Given the description of an element on the screen output the (x, y) to click on. 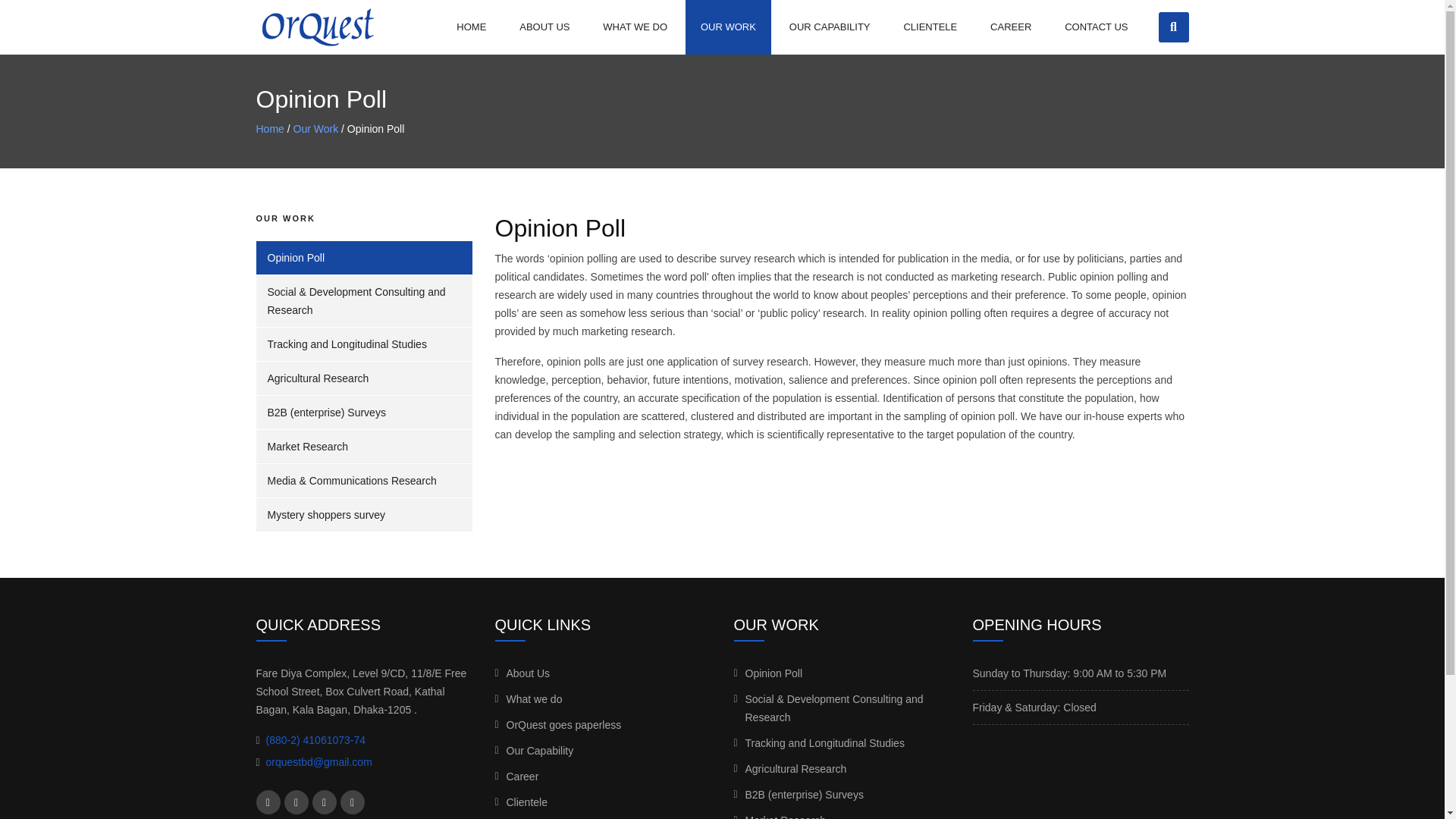
OUR CAPABILITY (829, 27)
CAREER (1010, 27)
ABOUT US (544, 27)
OUR WORK (728, 27)
WHAT WE DO (635, 27)
HOME (470, 27)
CLIENTELE (930, 27)
Orquest (317, 26)
